Given the description of an element on the screen output the (x, y) to click on. 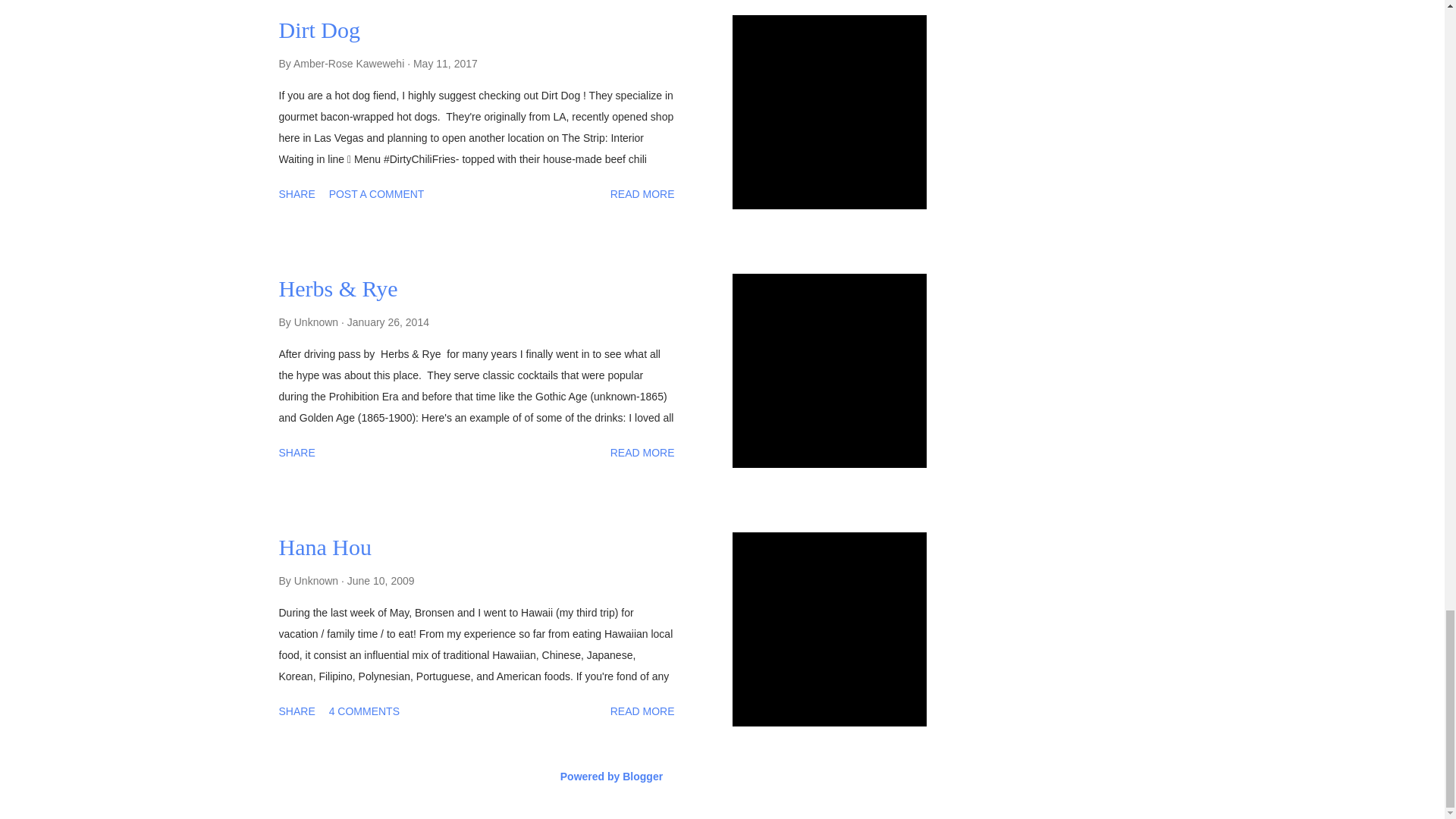
author profile (350, 63)
